Given the description of an element on the screen output the (x, y) to click on. 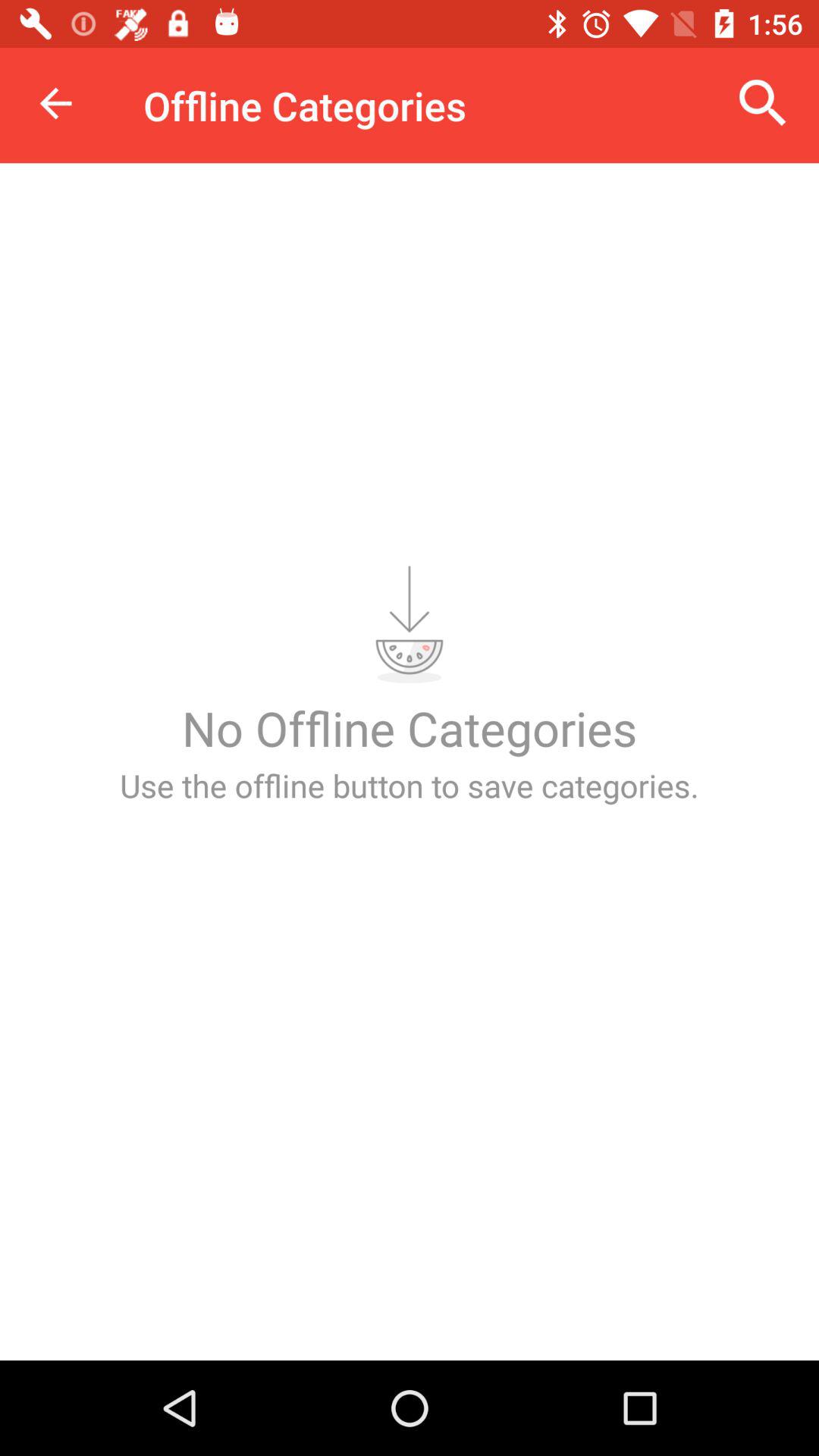
choose item at the top left corner (55, 103)
